Given the description of an element on the screen output the (x, y) to click on. 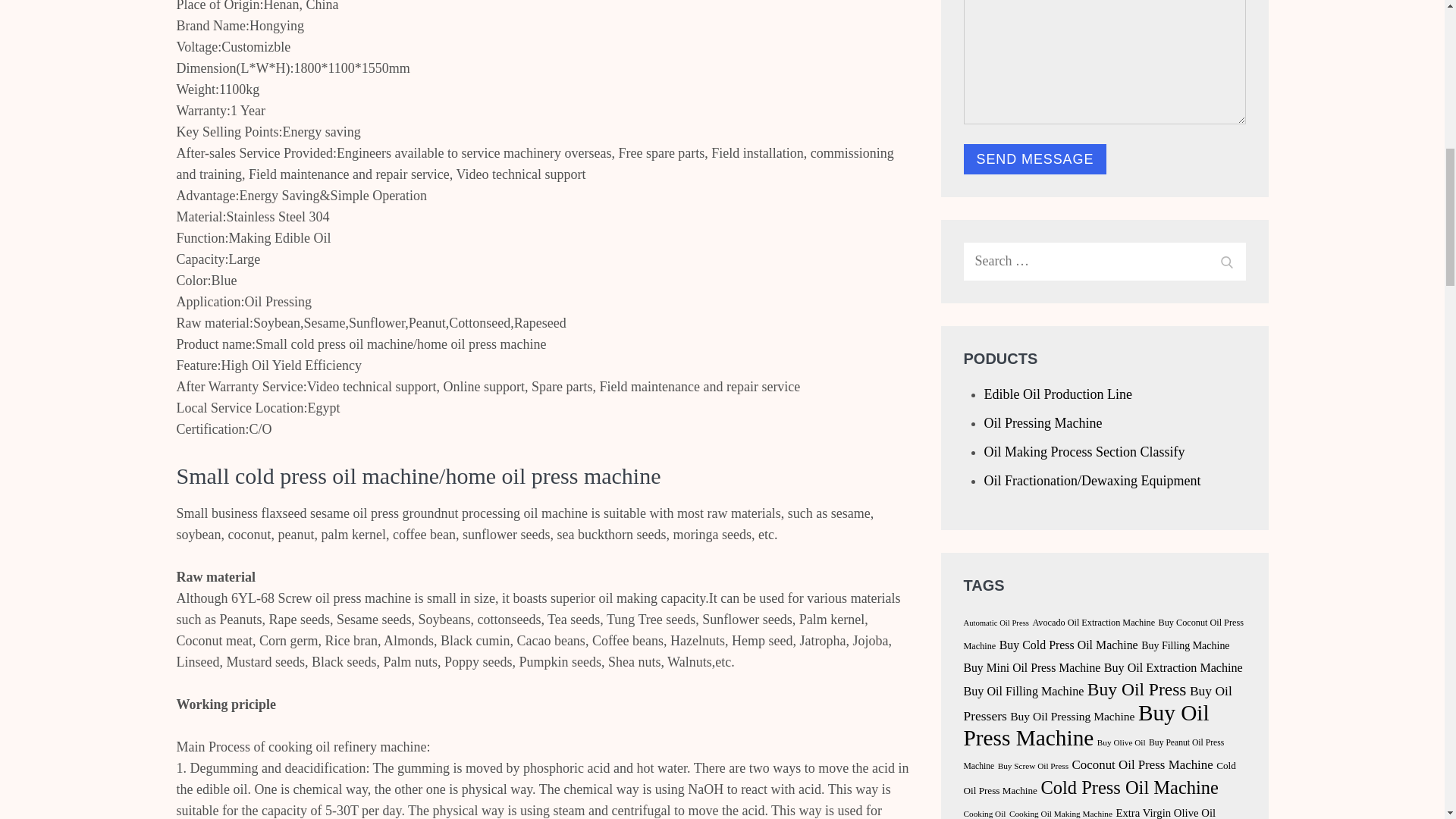
Send Message (1034, 159)
